Given the description of an element on the screen output the (x, y) to click on. 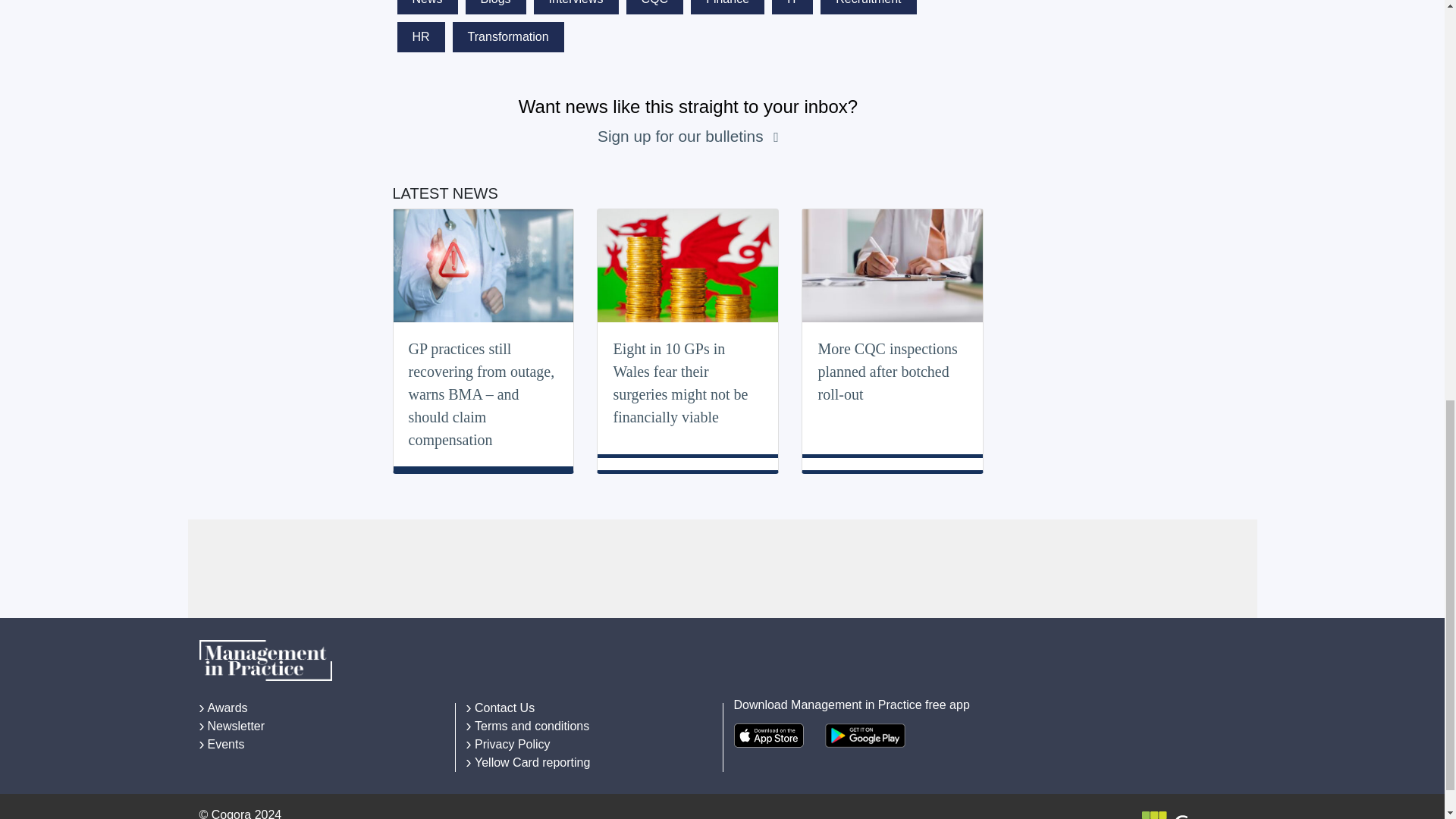
Download our app from the Apple App Store (768, 735)
Download our app from Google Play (865, 735)
Sign up for our bulletins (681, 135)
